Given the description of an element on the screen output the (x, y) to click on. 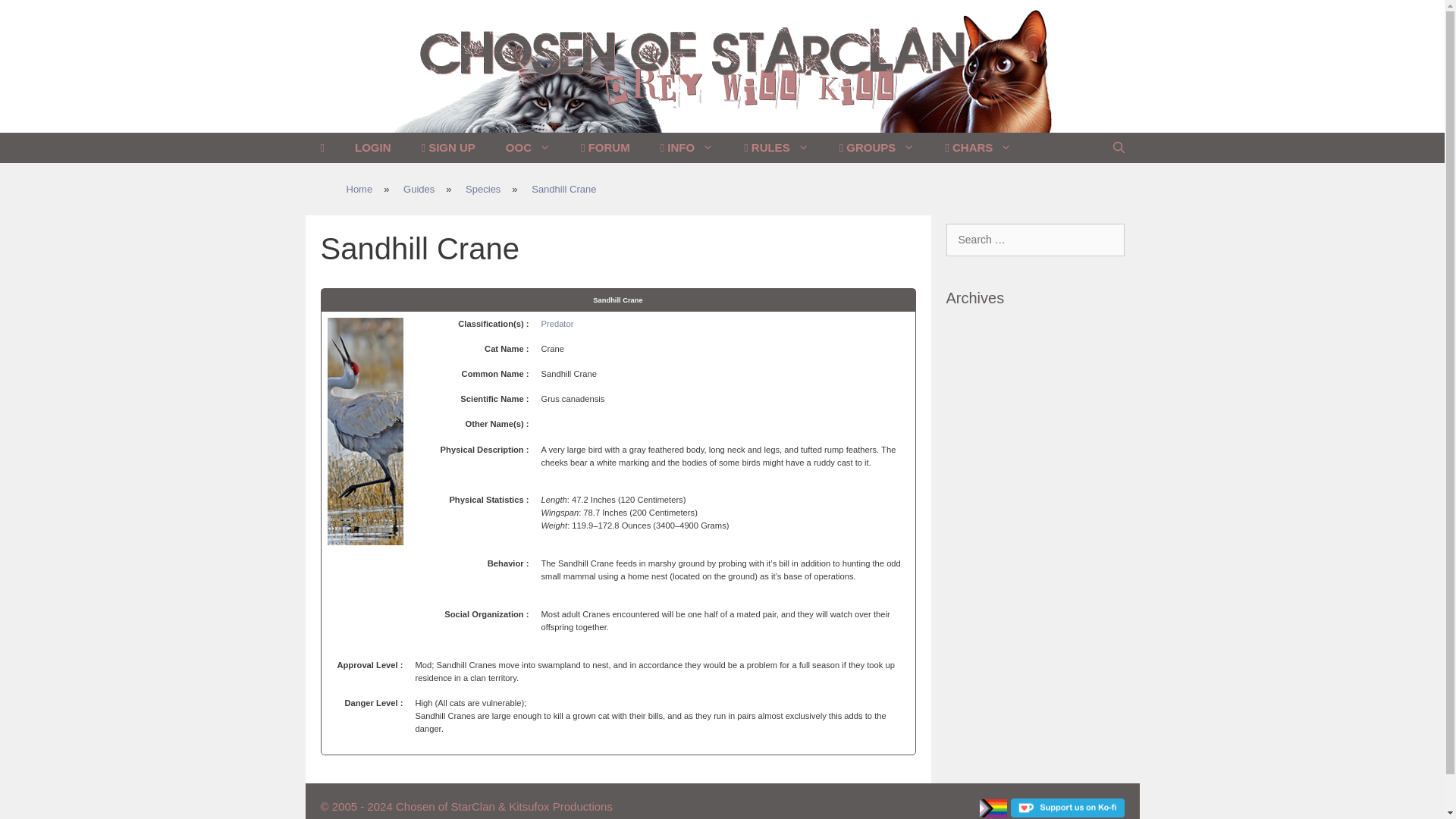
INFO (687, 147)
Home (358, 189)
Guides (419, 189)
GROUPS (877, 147)
Sandhill Crane (564, 189)
Sandhill Crane (564, 189)
Search for: (1035, 239)
RULES (776, 147)
Species (483, 189)
Guides (419, 189)
